Given the description of an element on the screen output the (x, y) to click on. 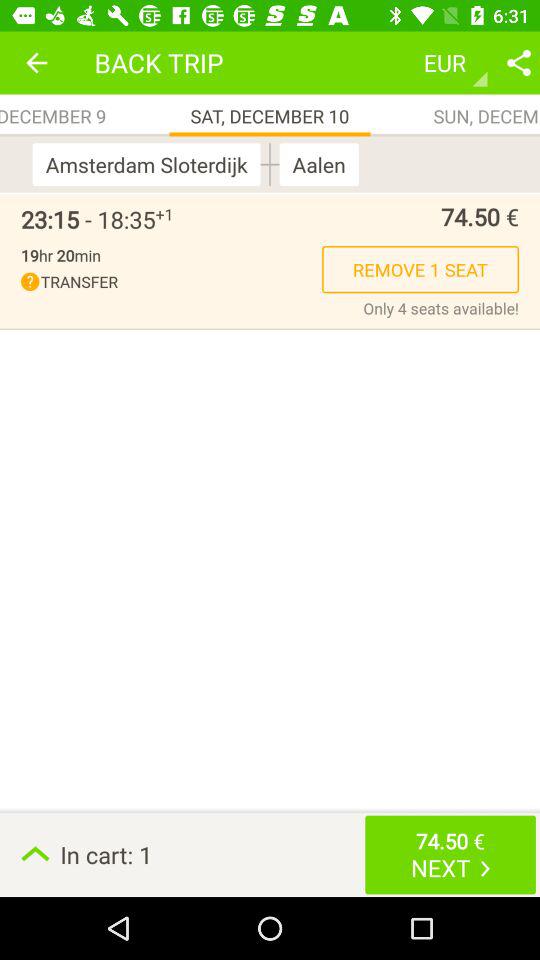
launch item above in cart: 1 item (441, 308)
